Given the description of an element on the screen output the (x, y) to click on. 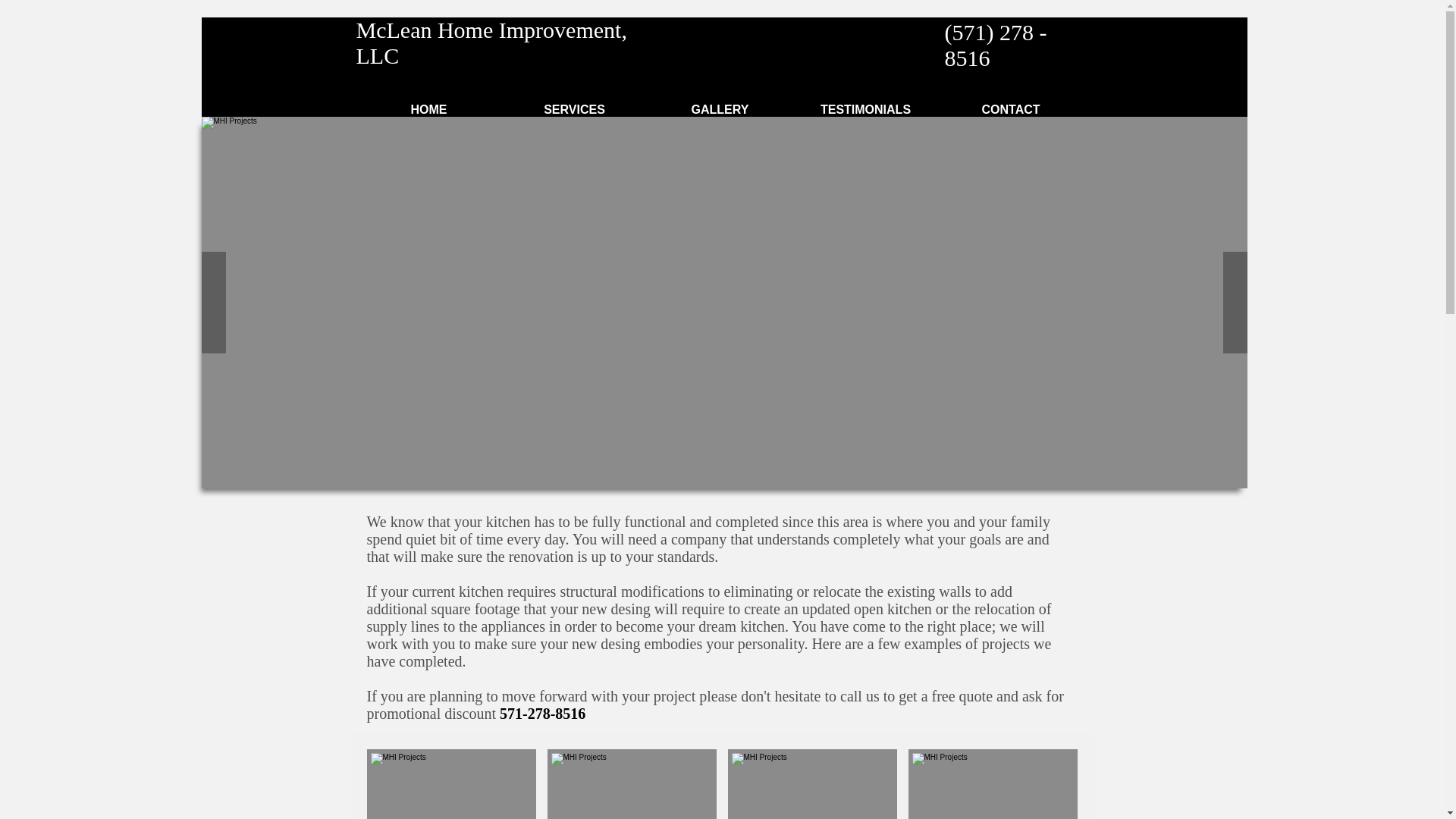
HOME (429, 109)
TESTIMONIALS (866, 109)
CONTACT (1011, 109)
SERVICES (574, 109)
